Given the description of an element on the screen output the (x, y) to click on. 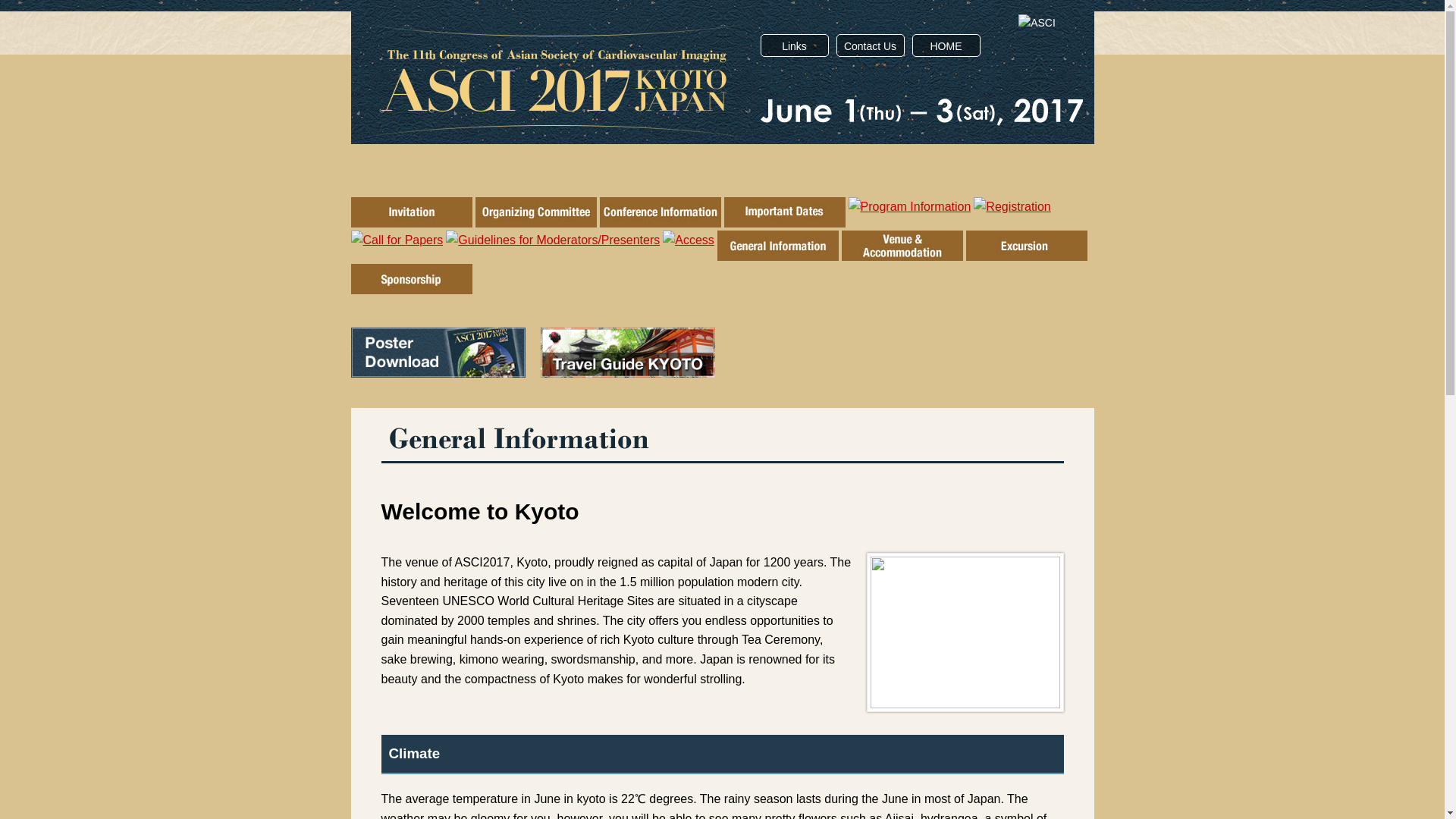
PAGE TOP (1406, 434)
HOME (945, 45)
Contact Us (870, 45)
Links (794, 45)
